Given the description of an element on the screen output the (x, y) to click on. 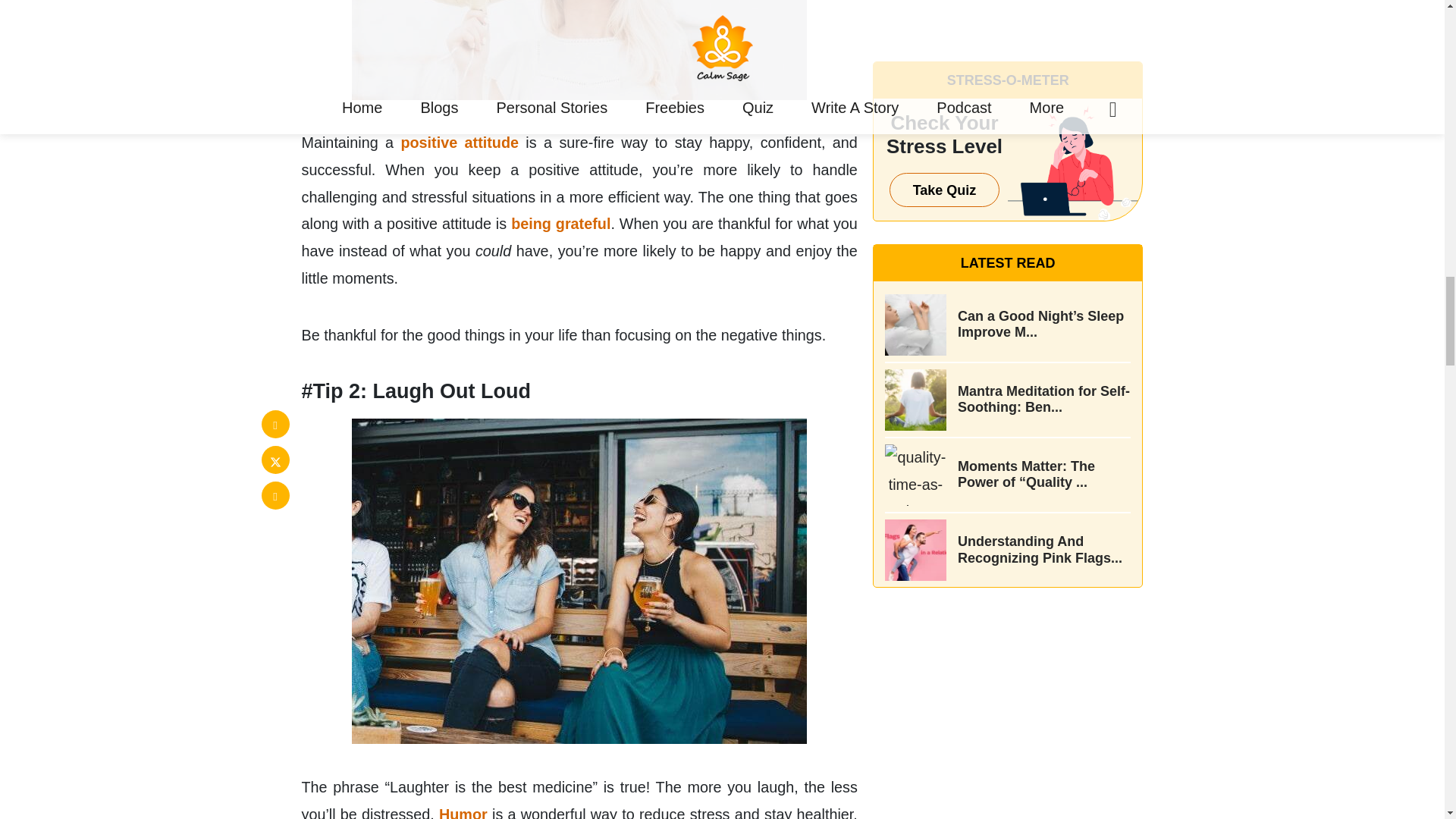
Humor (463, 812)
positive attitude (459, 142)
being grateful (560, 223)
